Given the description of an element on the screen output the (x, y) to click on. 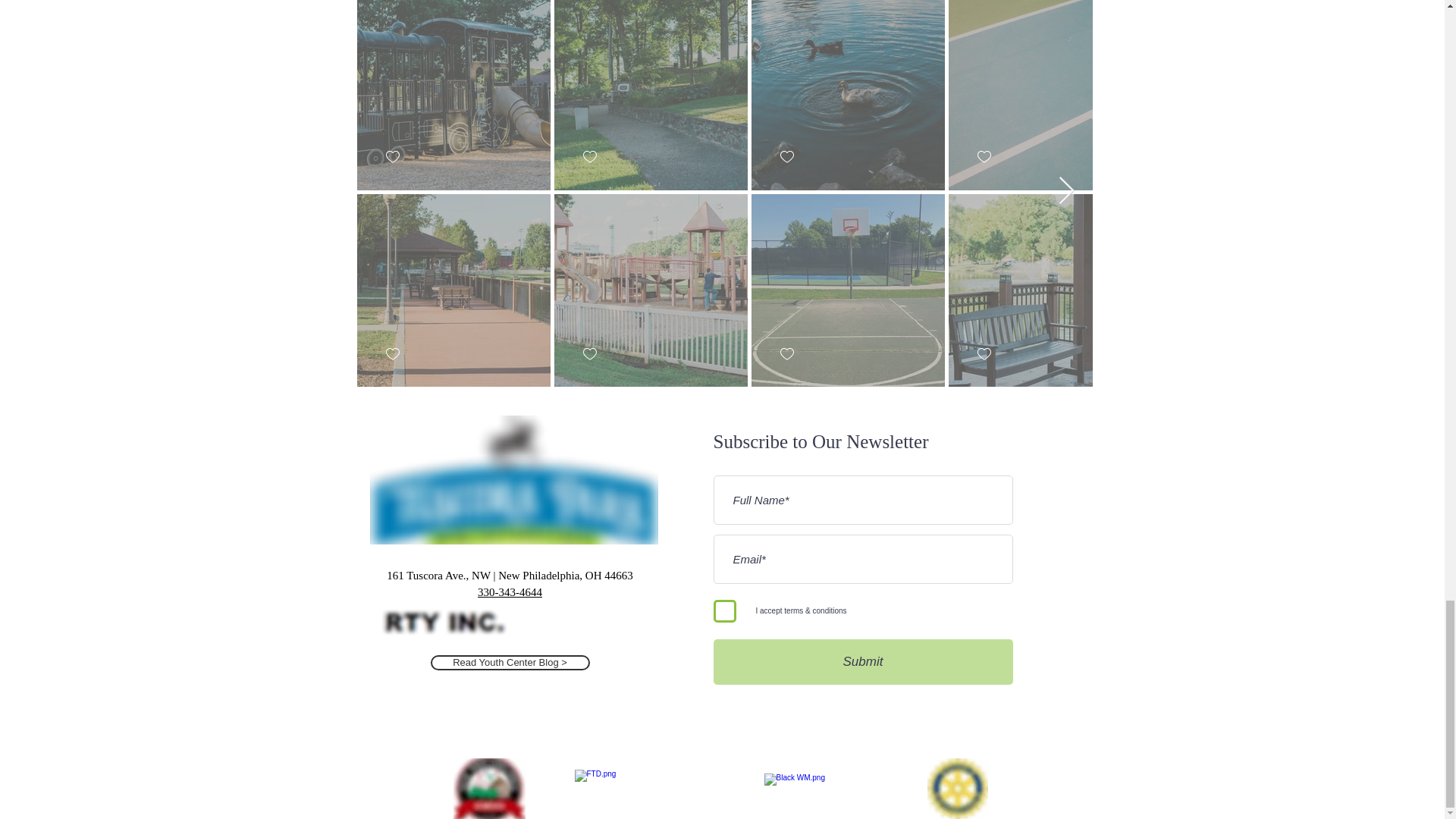
Submit (862, 661)
330-343-4644 (509, 591)
